Given the description of an element on the screen output the (x, y) to click on. 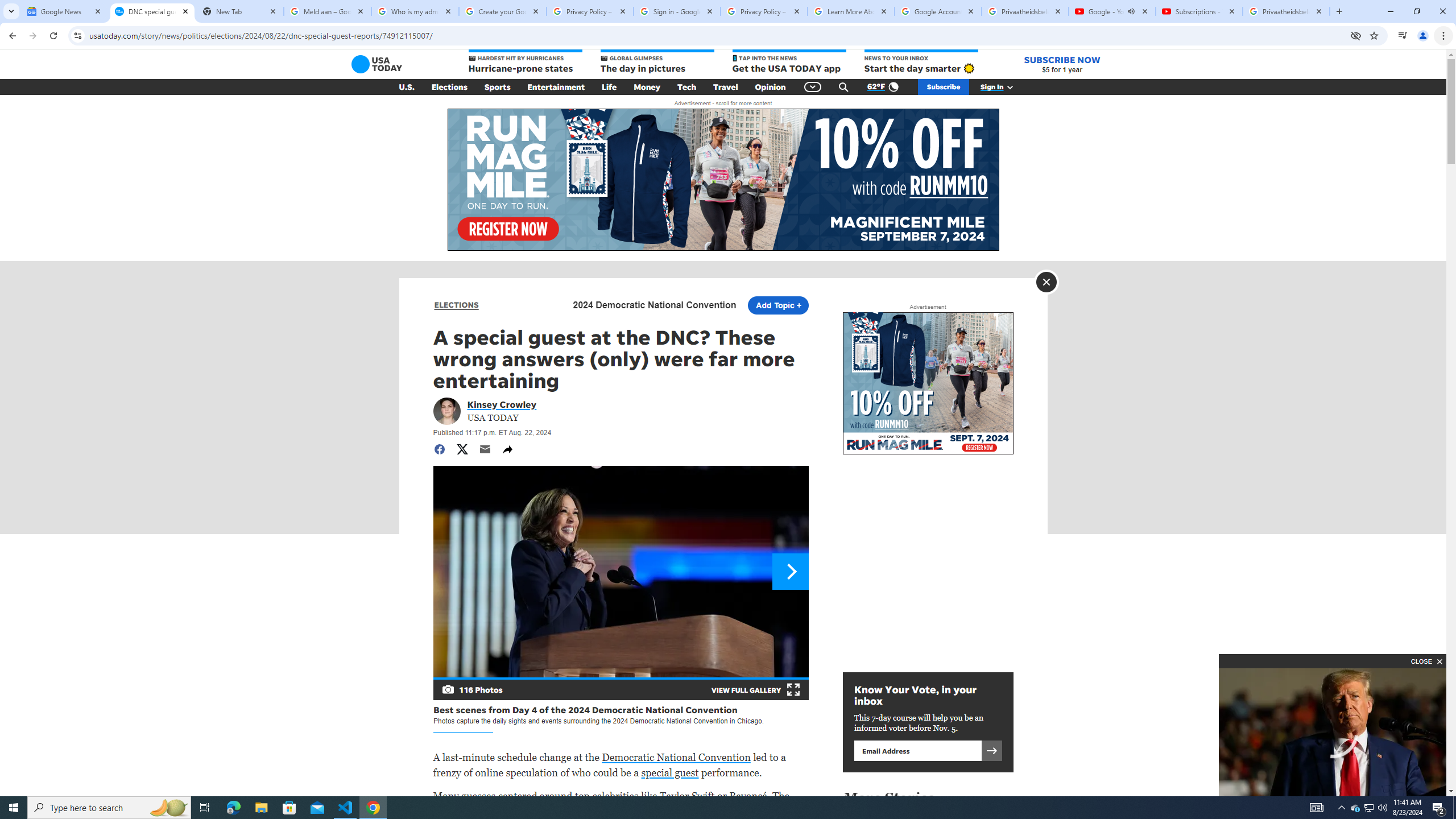
Third-party cookies blocked (1355, 35)
Chrome (1445, 35)
Search (843, 87)
Sign In (1002, 87)
Back (10, 35)
Elections (449, 87)
Democratic National Convention (676, 757)
ELECTIONS (456, 304)
special guest (669, 772)
AutomationID: aw0 (928, 384)
Subscriptions - YouTube (1198, 11)
Share to Twitter (461, 449)
Minimize (1390, 11)
